Given the description of an element on the screen output the (x, y) to click on. 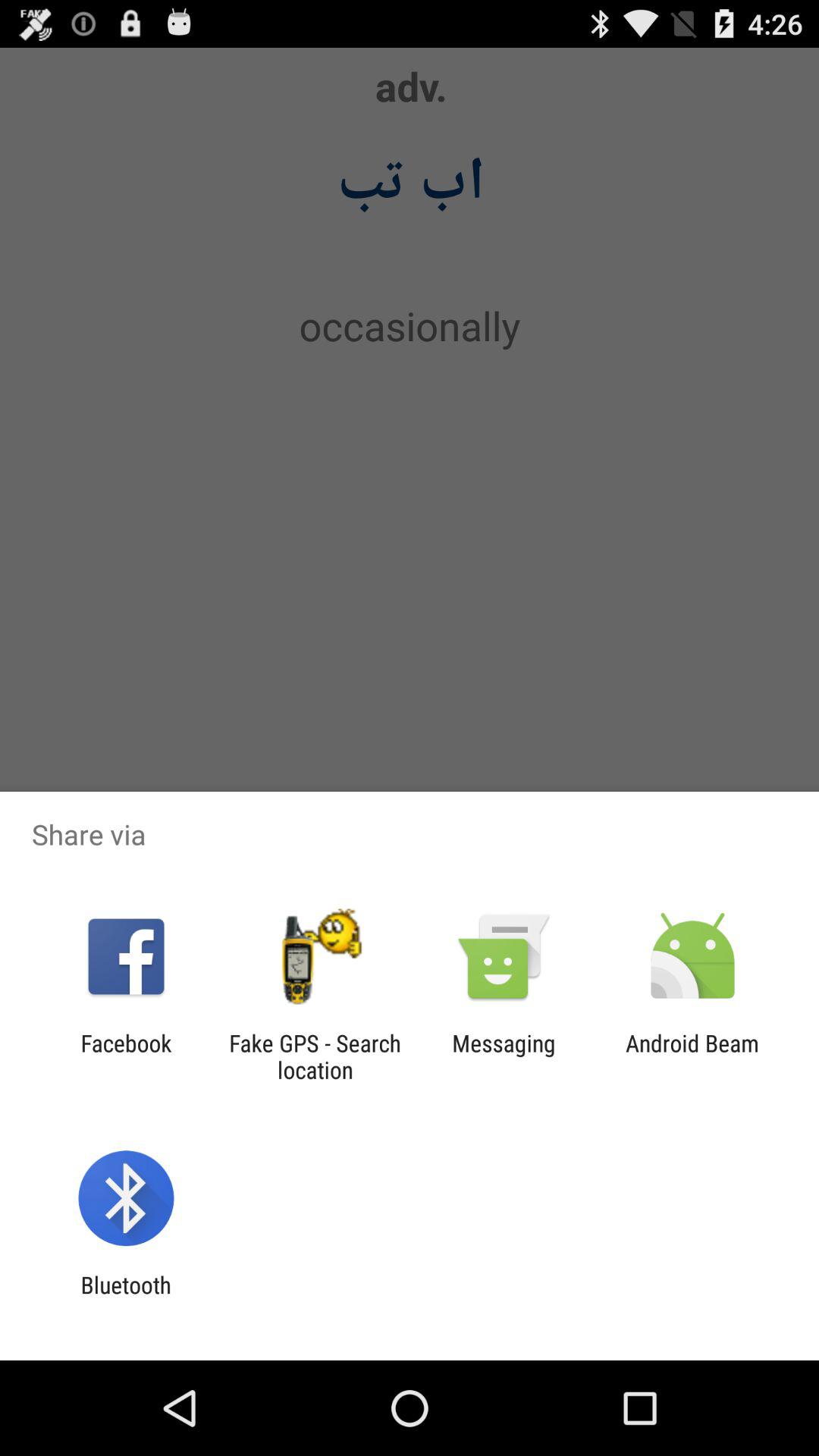
select app next to the fake gps search item (503, 1056)
